Given the description of an element on the screen output the (x, y) to click on. 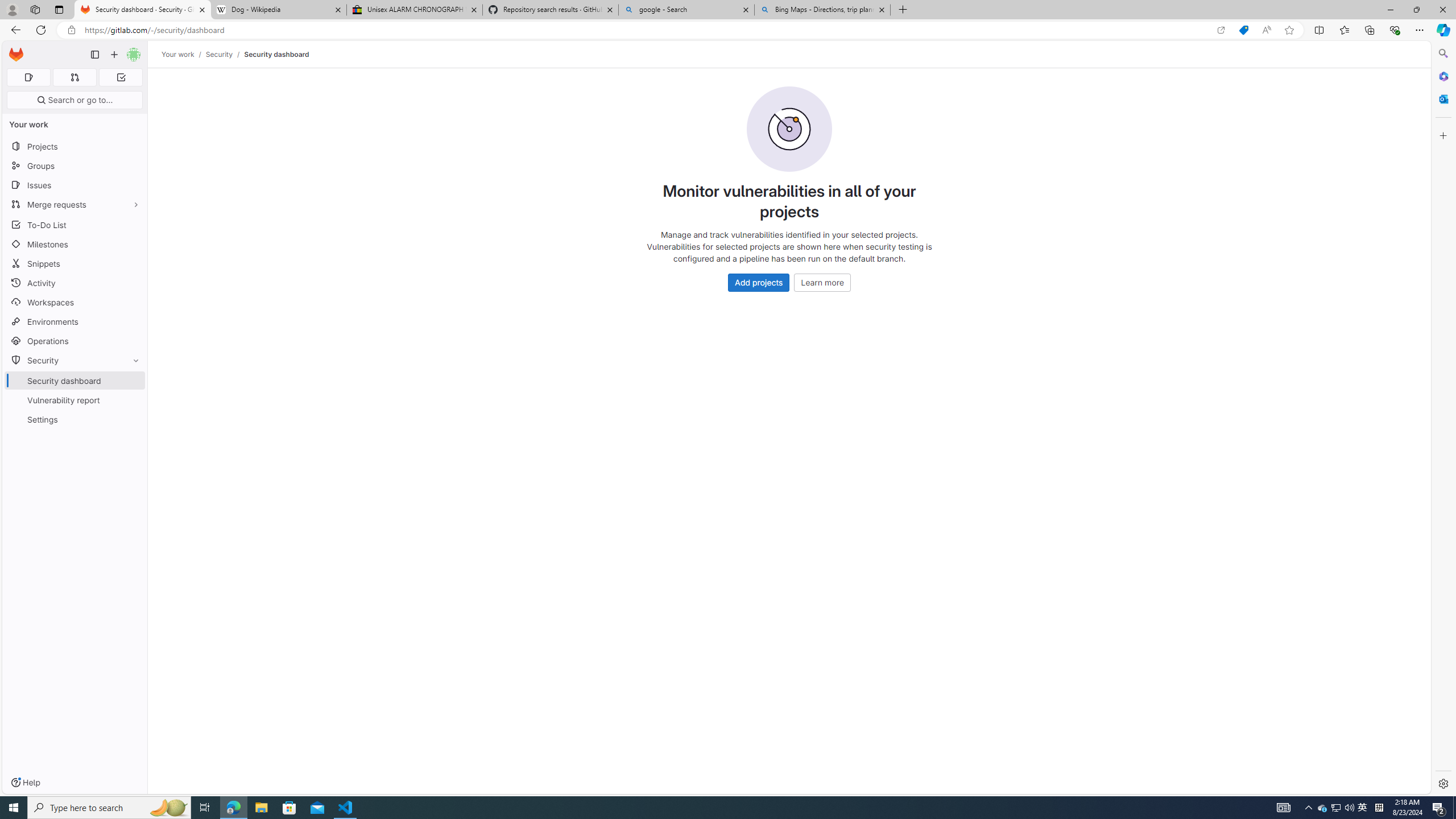
Operations (74, 340)
Operations (74, 340)
Vulnerability report (74, 399)
Milestones (74, 244)
Merge requests 0 (74, 76)
SecuritySecurity dashboardVulnerability reportSettings (74, 389)
Snippets (74, 262)
